Given the description of an element on the screen output the (x, y) to click on. 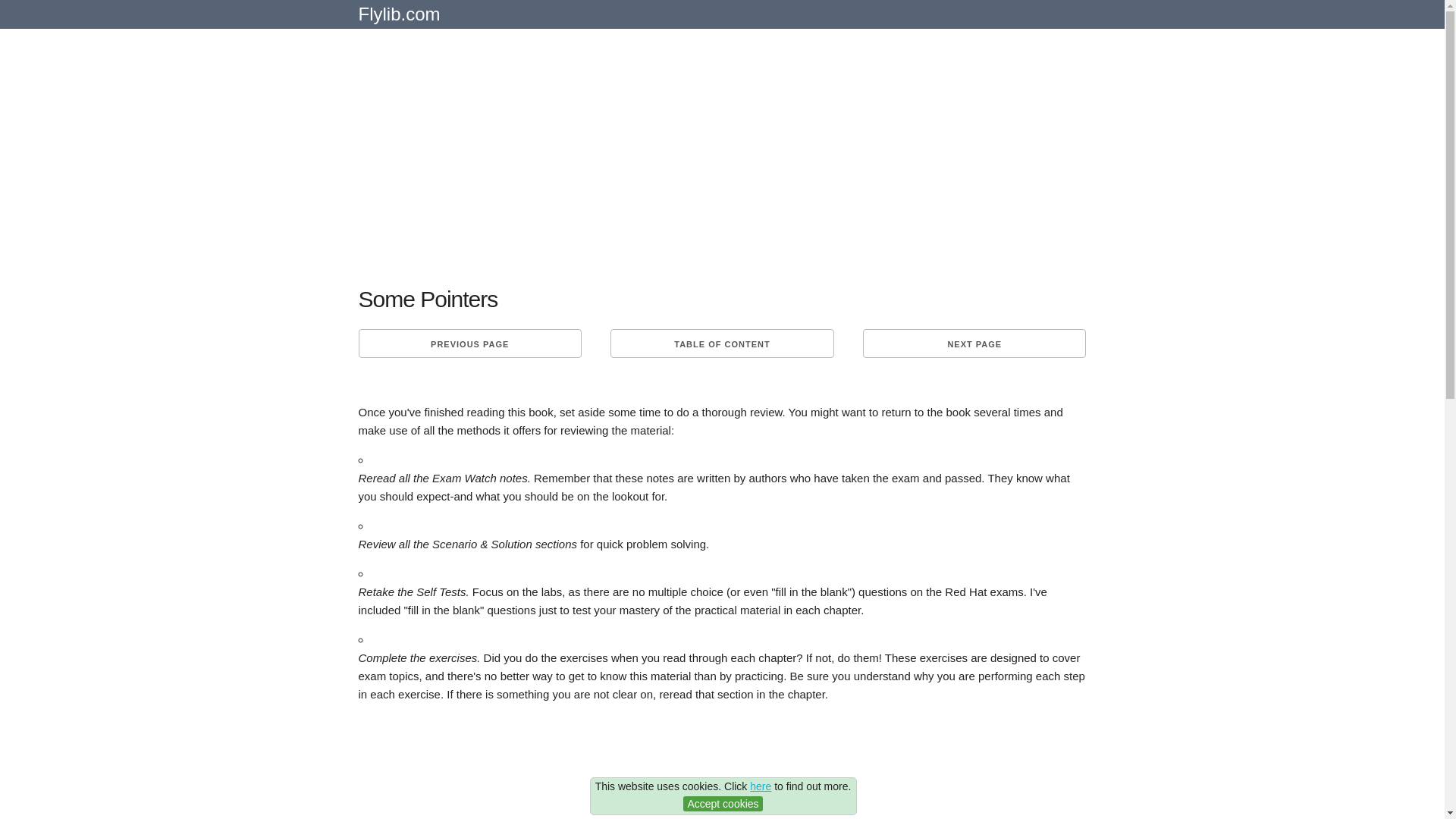
NEXT PAGE (974, 343)
Flylib.com (398, 19)
Advertisement (722, 766)
PREVIOUS PAGE (469, 343)
TABLE OF CONTENT (721, 343)
